Given the description of an element on the screen output the (x, y) to click on. 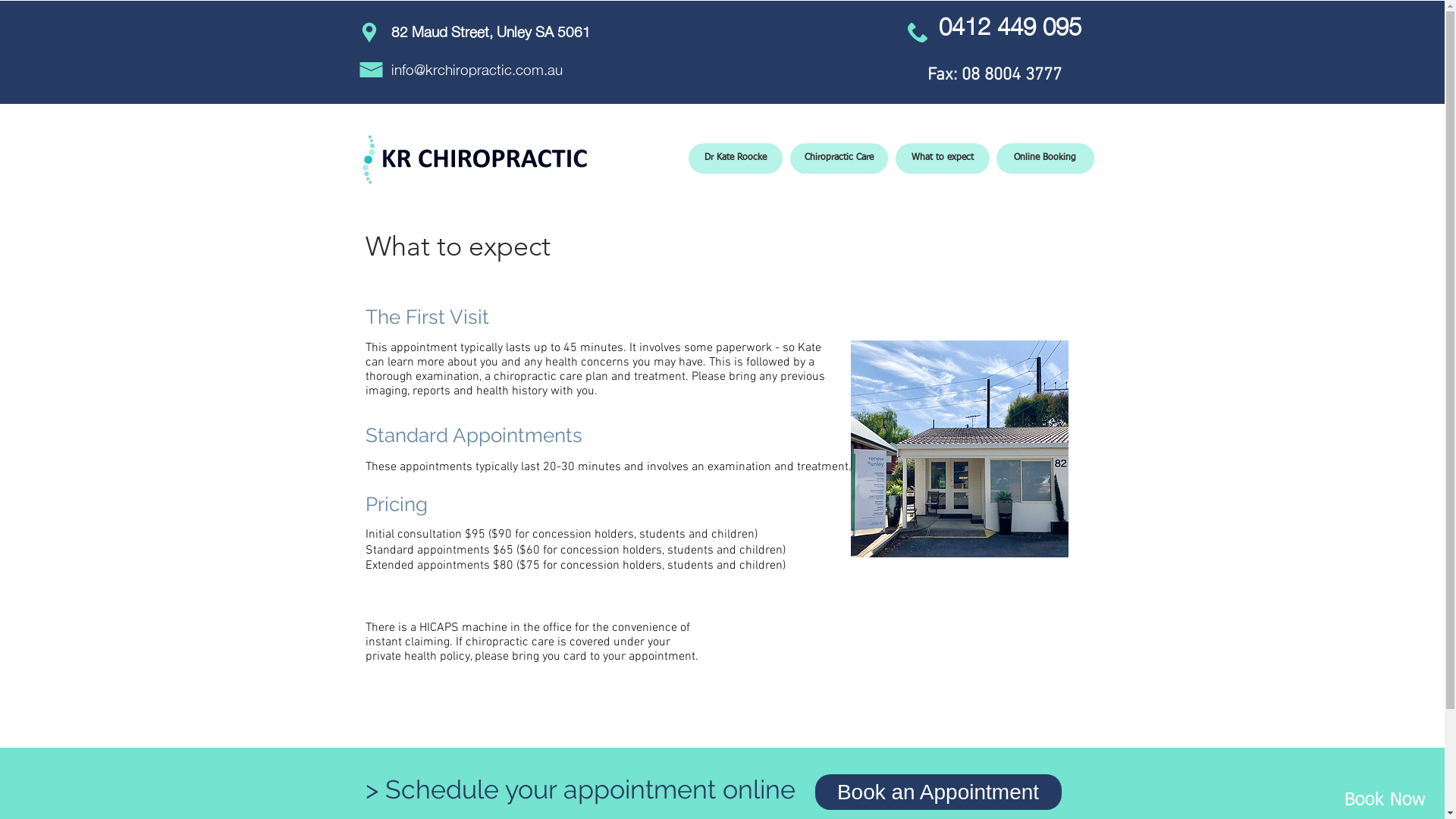
Online Booking Element type: text (1045, 158)
Dr Kate Roocke Element type: text (735, 158)
What to expect Element type: text (941, 158)
info@krchiropractic.com.au Element type: text (476, 67)
Chiropractic Care Element type: text (839, 158)
Book an Appointment Element type: text (937, 791)
